Given the description of an element on the screen output the (x, y) to click on. 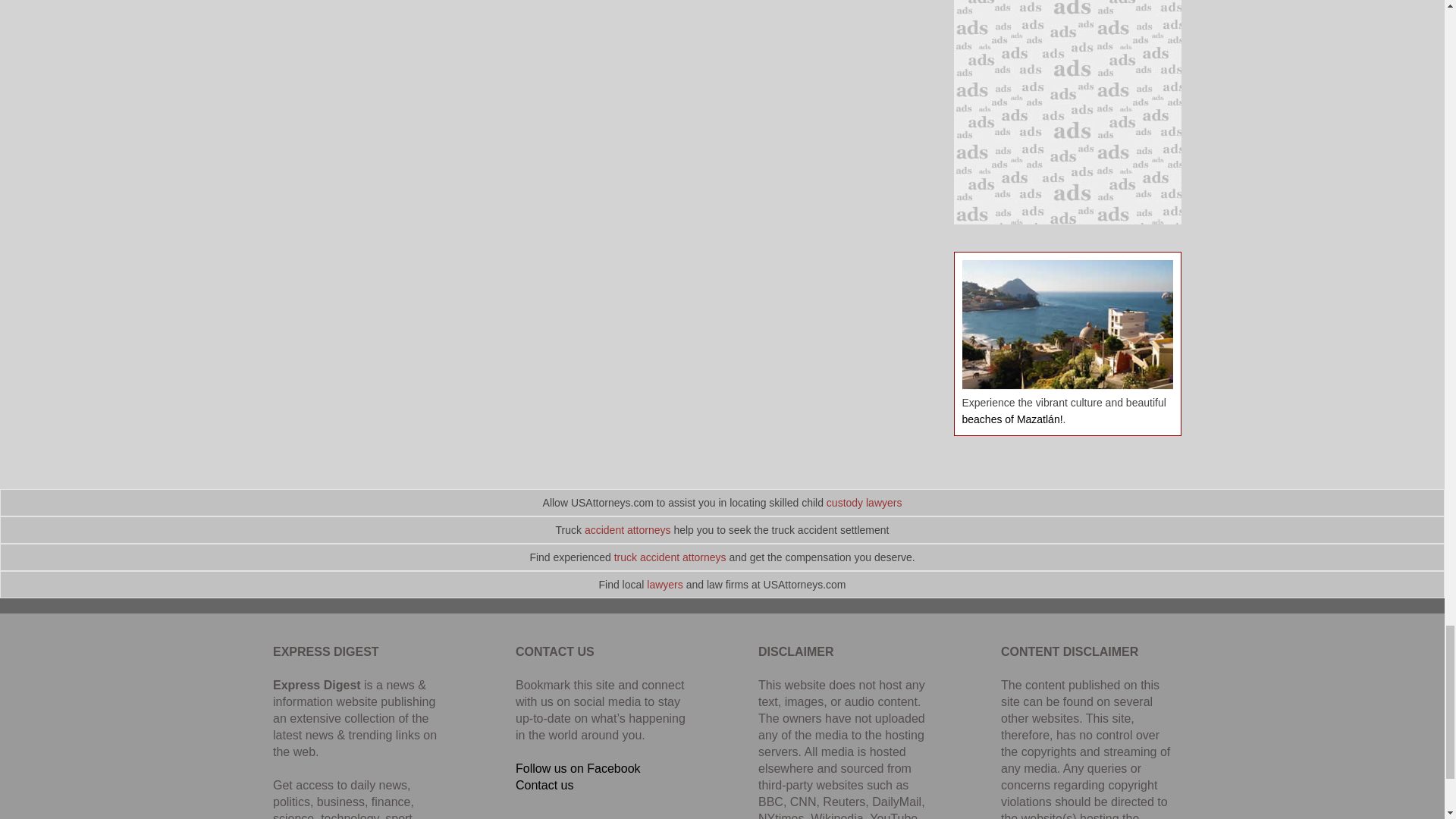
truck accident attorneys (670, 557)
lawyers (664, 584)
custody lawyers (864, 502)
accident attorneys (628, 530)
Advertisement (1066, 112)
